Given the description of an element on the screen output the (x, y) to click on. 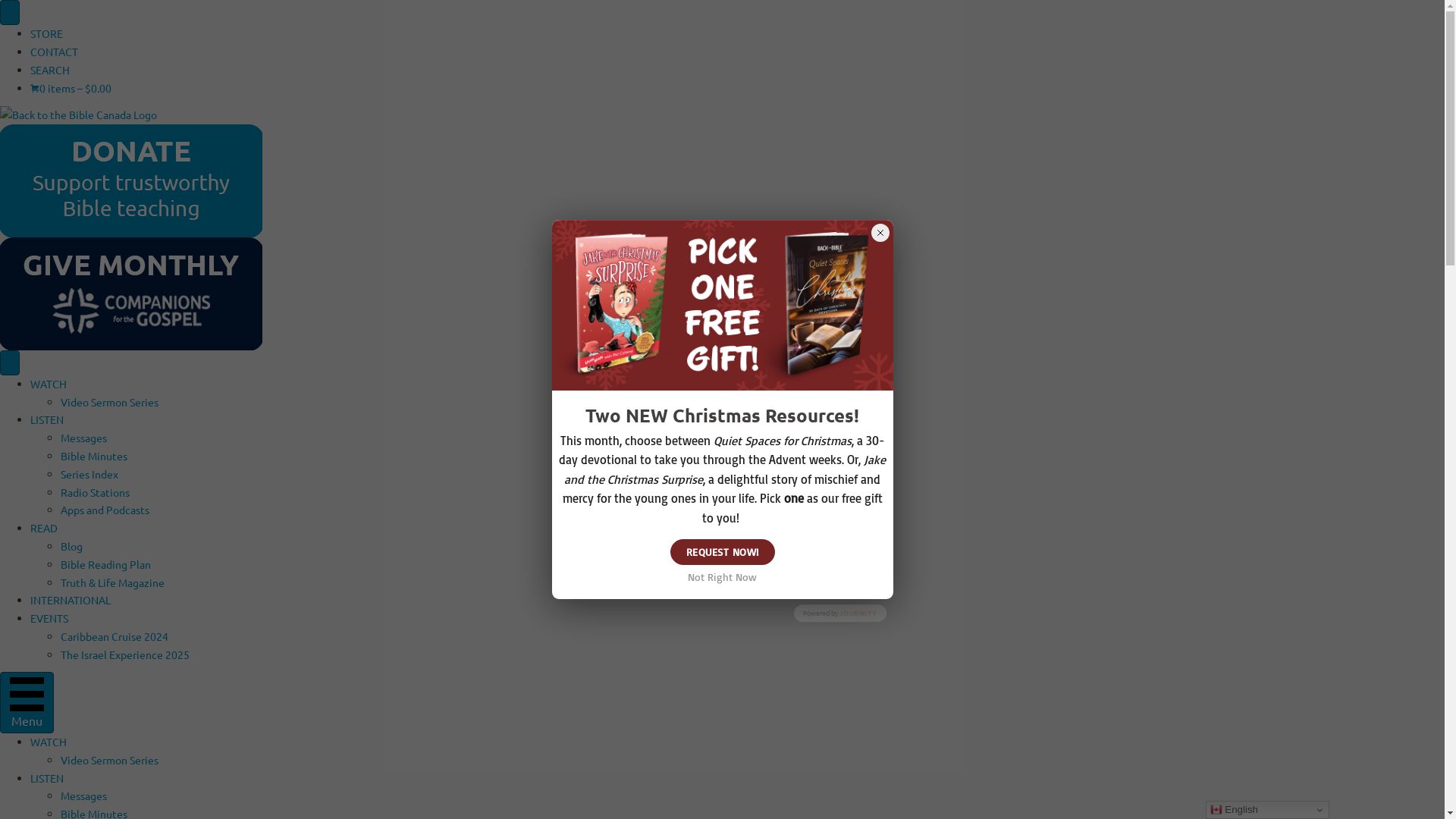
Video Sermon Series Element type: text (109, 759)
INTERNATIONAL Element type: text (70, 599)
Donate-button Element type: hover (131, 180)
Series Index Element type: text (89, 473)
LISTEN Element type: text (46, 777)
WATCH Element type: text (48, 741)
LISTEN Element type: text (46, 419)
Video Sermon Series Element type: text (109, 401)
The Israel Experience 2025 Element type: text (124, 654)
Give-Monthly-button-MOP-CFTG Element type: hover (131, 293)
Radio Stations Element type: text (94, 491)
SEARCH Element type: text (49, 69)
Messages Element type: text (83, 437)
Truth & Life Magazine Element type: text (112, 582)
Messages Element type: text (83, 795)
STORE Element type: text (46, 33)
Back to the Bible Canada Logo Element type: hover (78, 115)
Bible Minutes Element type: text (93, 455)
Bible Reading Plan Element type: text (105, 564)
Menu Element type: text (26, 702)
CONTACT Element type: text (54, 51)
JOURNITY Element type: text (858, 612)
READ Element type: text (43, 527)
Blog Element type: text (71, 545)
Caribbean Cruise 2024 Element type: text (114, 636)
REQUEST NOW! Element type: text (722, 551)
Apps and Podcasts Element type: text (104, 509)
Not Right Now Element type: text (721, 576)
WATCH Element type: text (48, 383)
EVENTS Element type: text (49, 617)
